Given the description of an element on the screen output the (x, y) to click on. 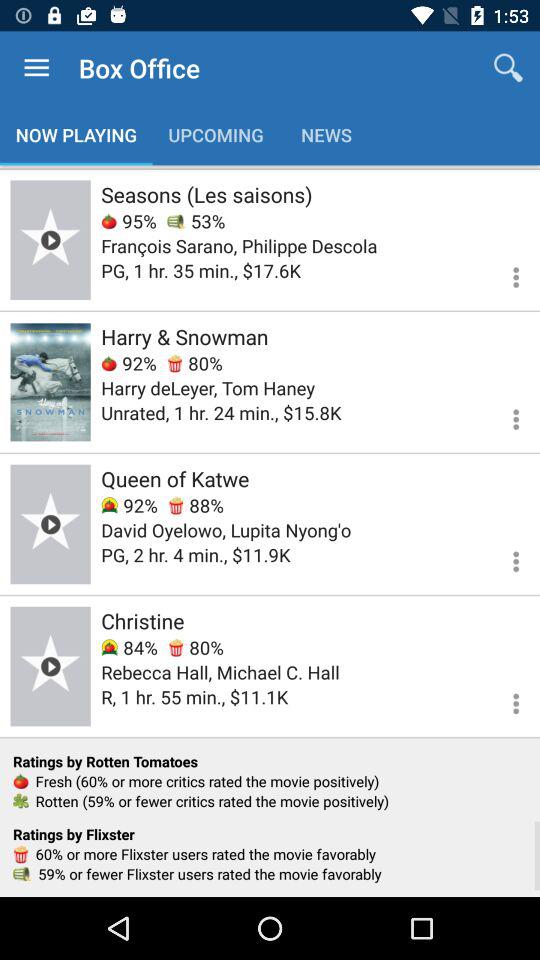
scroll until harry & snowman item (184, 336)
